Given the description of an element on the screen output the (x, y) to click on. 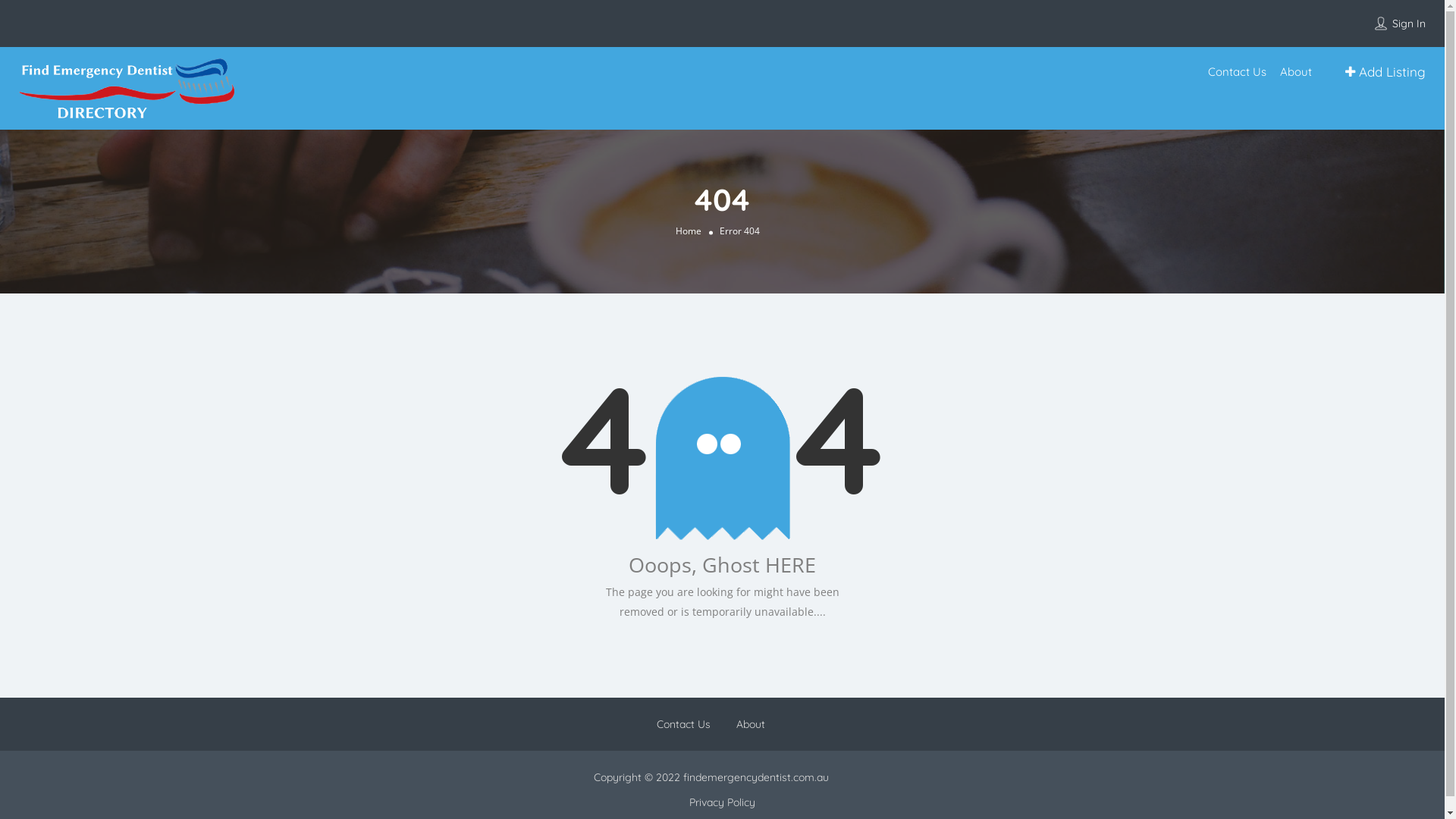
Sign In Element type: text (1408, 23)
Contact Us Element type: text (1237, 71)
About Element type: text (1295, 71)
Contact Us Element type: text (683, 724)
Home Element type: text (687, 229)
About Element type: text (750, 724)
Add Listing Element type: text (1385, 71)
Privacy Policy Element type: text (722, 802)
